Given the description of an element on the screen output the (x, y) to click on. 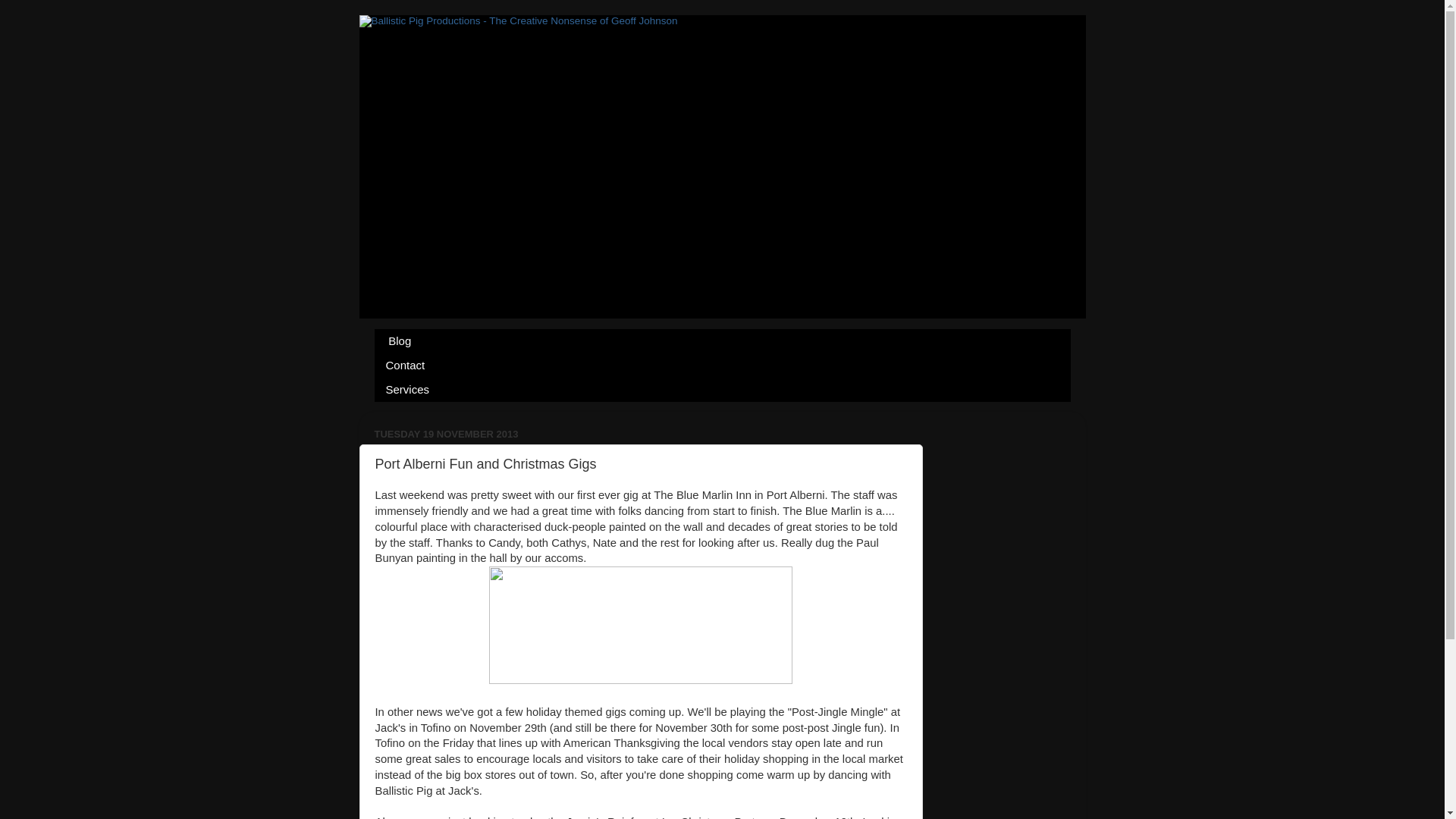
Blog (398, 340)
Contact (406, 364)
Services (408, 389)
